Given the description of an element on the screen output the (x, y) to click on. 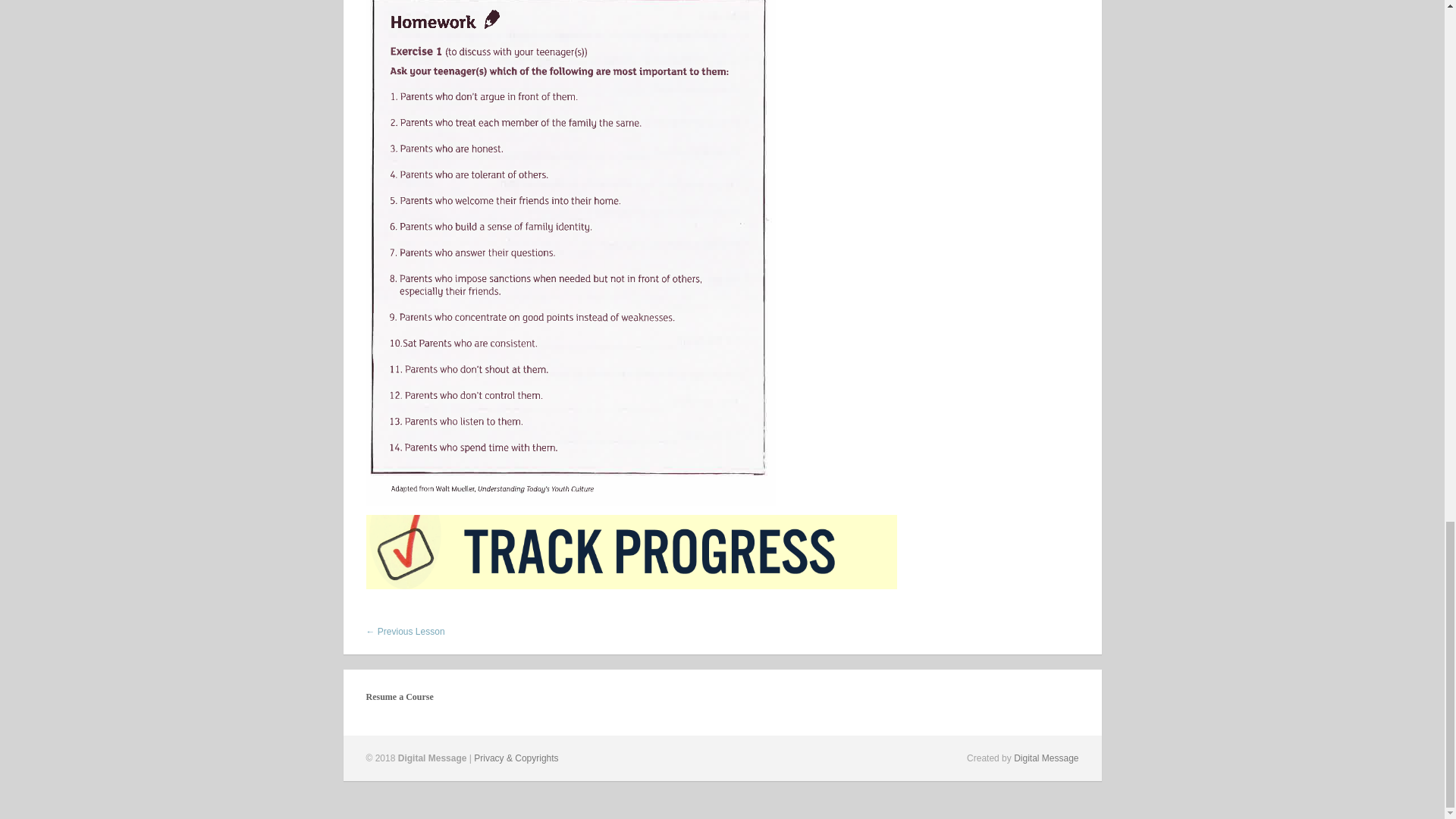
Track-Banner (630, 551)
